Given the description of an element on the screen output the (x, y) to click on. 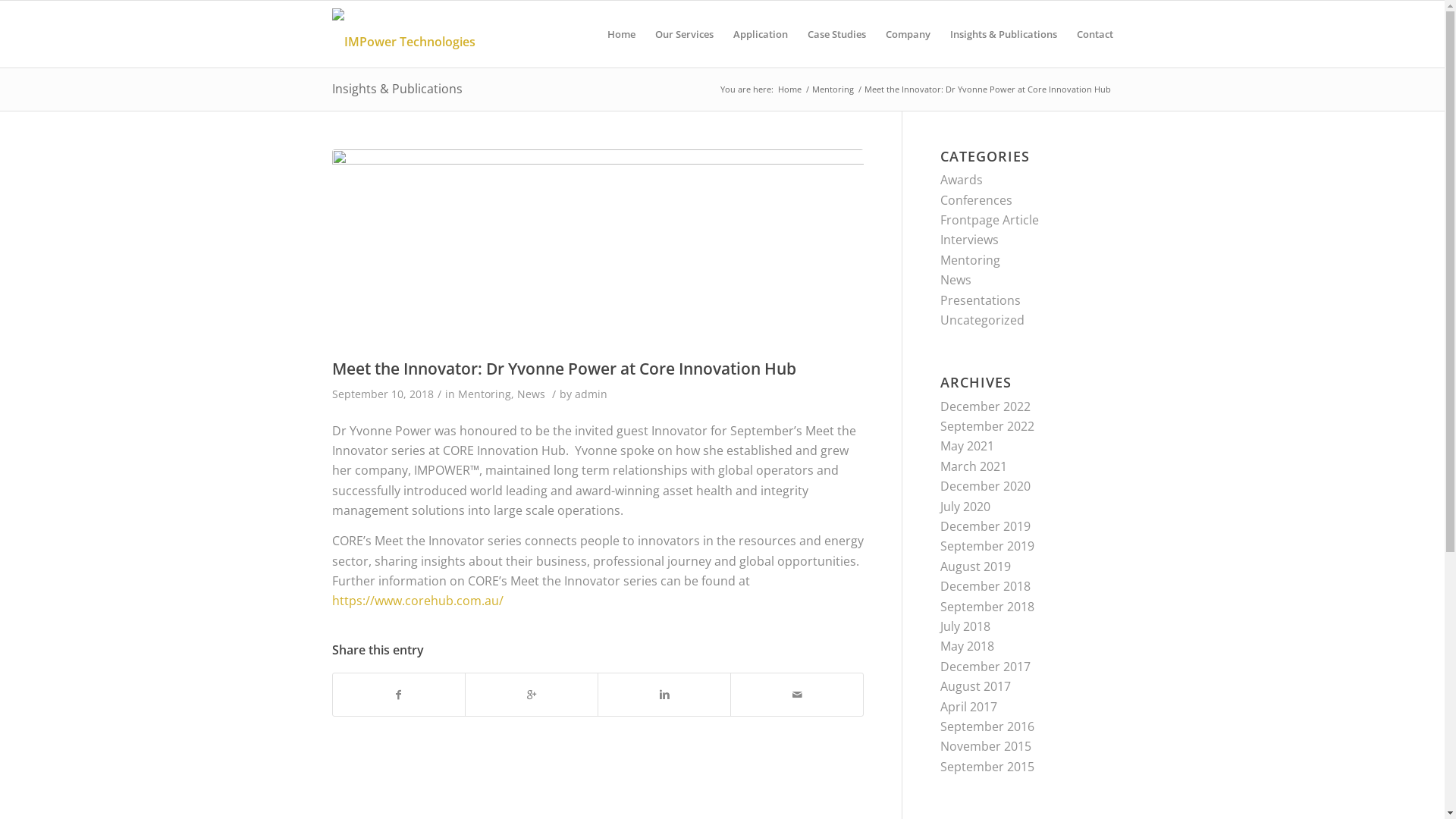
News Element type: text (531, 393)
https://www.corehub.com.au/ Element type: text (417, 600)
December 2020 Element type: text (985, 485)
Frontpage Article Element type: text (989, 219)
March 2021 Element type: text (973, 466)
Conferences Element type: text (976, 199)
May 2018 Element type: text (967, 645)
Meet the Innovator: Dr Yvonne Power at Core Innovation Hub Element type: hover (598, 250)
Insights & Publications Element type: text (1003, 33)
November 2015 Element type: text (985, 745)
December 2018 Element type: text (985, 585)
Application Element type: text (760, 33)
Mentoring Element type: text (832, 88)
December 2019 Element type: text (985, 525)
August 2019 Element type: text (975, 566)
Uncategorized Element type: text (982, 319)
September 2016 Element type: text (987, 726)
Home Element type: text (621, 33)
Mentoring Element type: text (484, 393)
Awards Element type: text (961, 179)
Our Services Element type: text (683, 33)
July 2018 Element type: text (965, 626)
May 2021 Element type: text (967, 445)
News Element type: text (955, 279)
September 2015 Element type: text (987, 766)
September 2022 Element type: text (987, 425)
Mentoring Element type: text (970, 259)
September 2018 Element type: text (987, 606)
Case Studies Element type: text (836, 33)
Home Element type: text (789, 88)
September 2019 Element type: text (987, 545)
Meet the Innovator: Dr Yvonne Power at Core Innovation Hub Element type: text (564, 368)
Insights & Publications Element type: text (397, 88)
Interviews Element type: text (969, 239)
Presentations Element type: text (980, 299)
Company Element type: text (907, 33)
April 2017 Element type: text (968, 705)
admin Element type: text (590, 393)
December 2017 Element type: text (985, 666)
December 2022 Element type: text (985, 406)
July 2020 Element type: text (965, 506)
Contact Element type: text (1089, 33)
August 2017 Element type: text (975, 685)
